Given the description of an element on the screen output the (x, y) to click on. 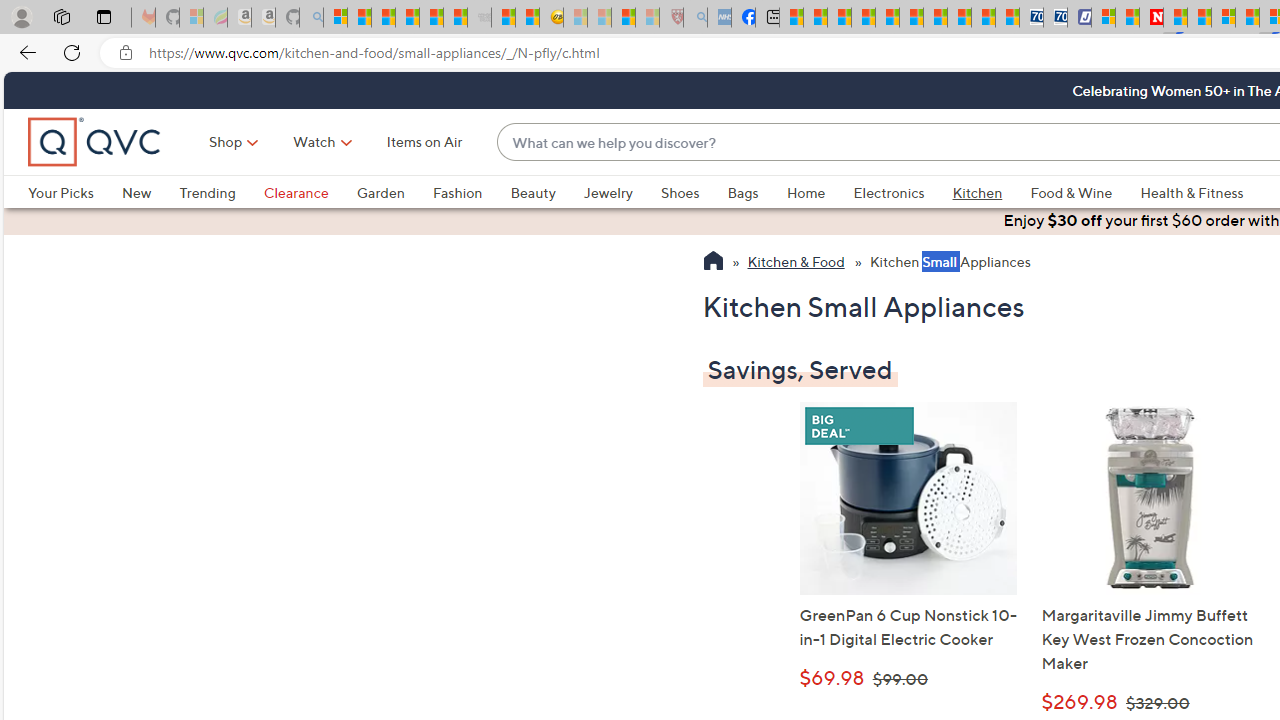
Electronics (888, 192)
Combat Siege - Sleeping (479, 17)
QVC home (95, 141)
Your Picks (60, 192)
